Given the description of an element on the screen output the (x, y) to click on. 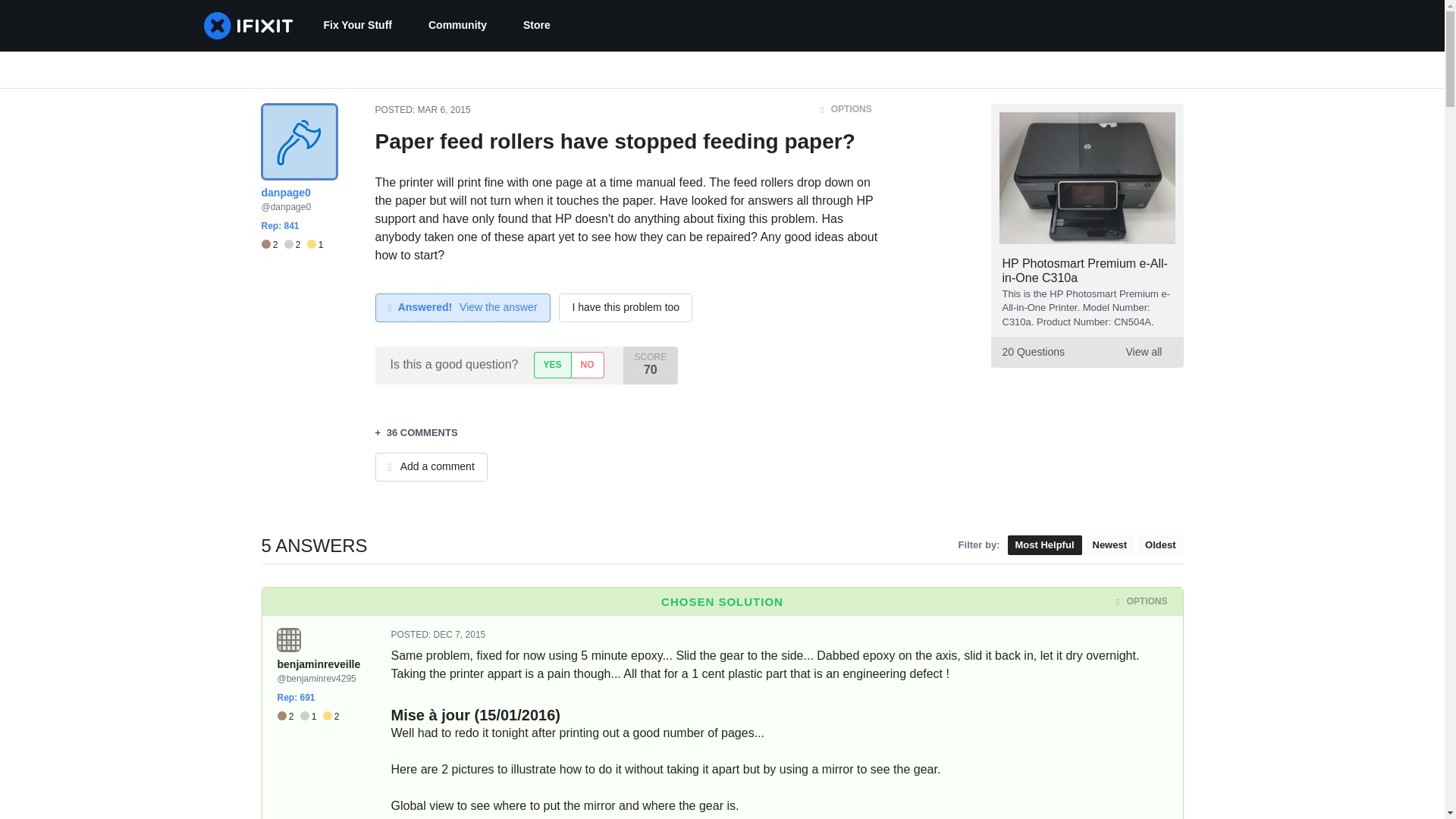
Fri, 06 Mar 2015 05:39:29 -0700 (443, 109)
Community (457, 25)
Oldest (1159, 545)
2 Bronze badges (288, 716)
Fix Your Stuff (356, 25)
Newest (1109, 545)
Store (537, 25)
2 2 1 (291, 245)
2 Gold badges (331, 716)
1 Silver badges (311, 716)
